Given the description of an element on the screen output the (x, y) to click on. 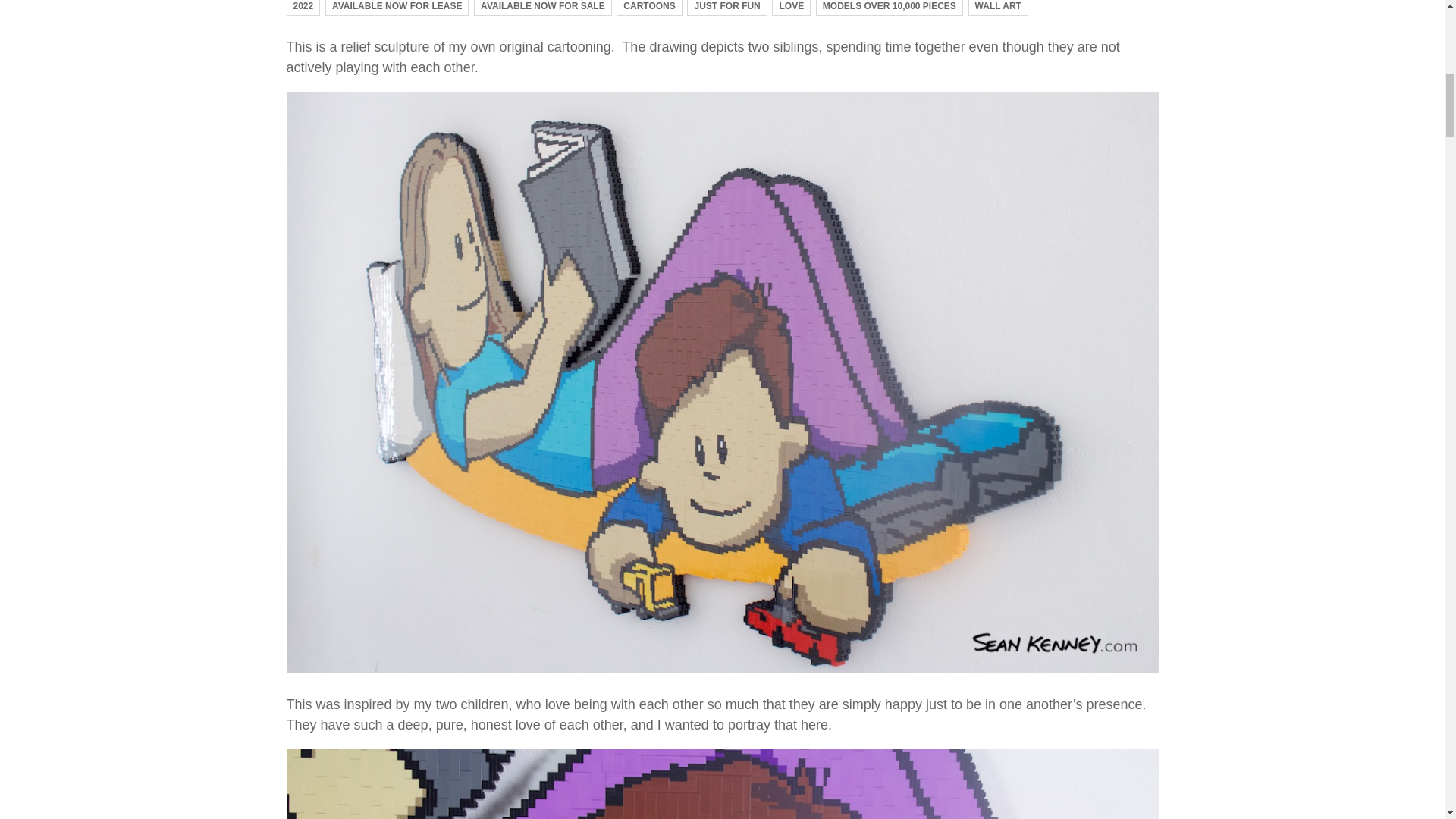
2022 (303, 7)
CARTOONS (648, 7)
AVAILABLE NOW FOR LEASE (396, 7)
AVAILABLE NOW FOR SALE (542, 7)
